Given the description of an element on the screen output the (x, y) to click on. 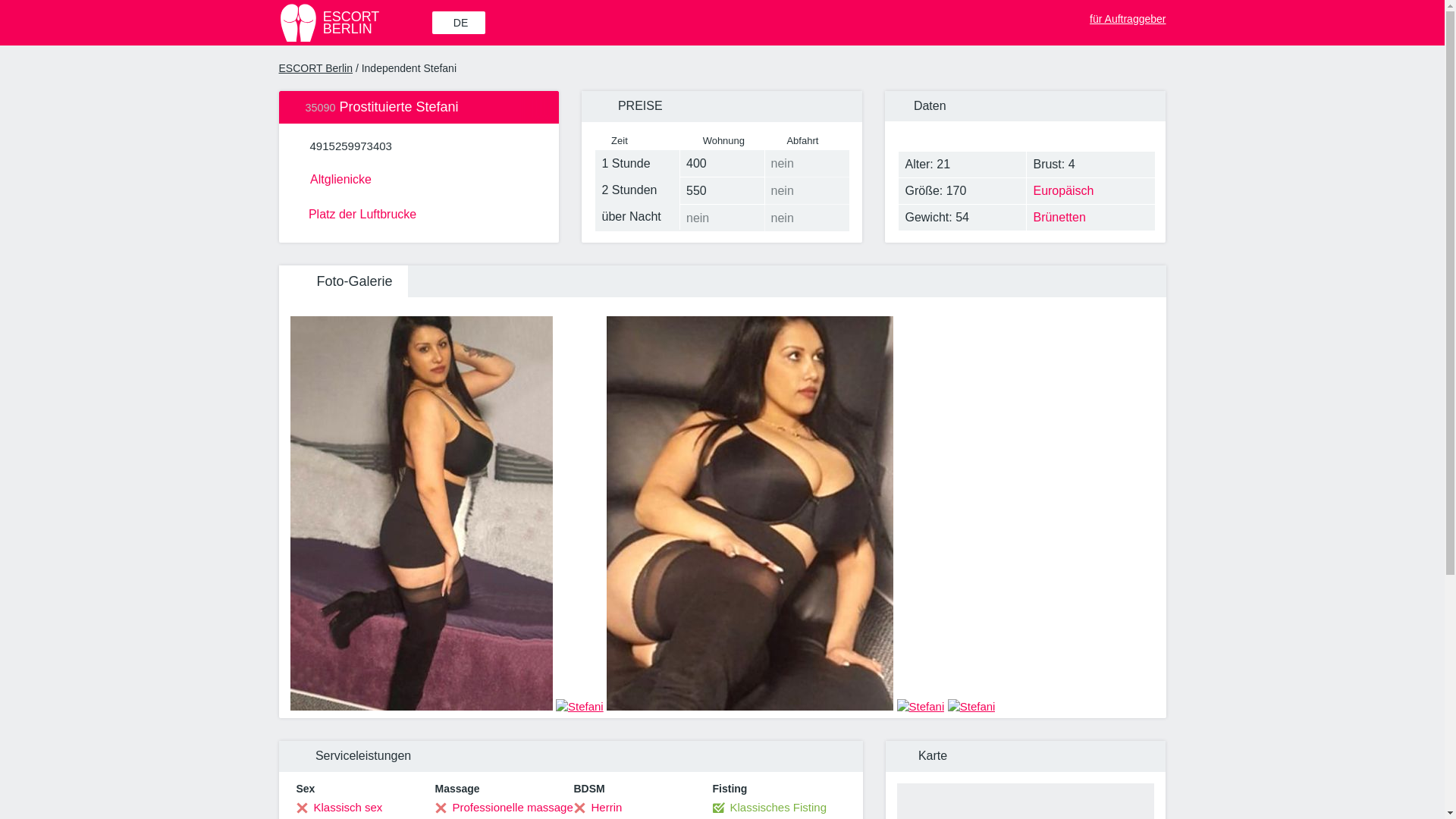
Foto-Galerie (343, 281)
Altglienicke (418, 177)
4915259973403 (350, 145)
Platz der Luftbrucke (418, 212)
ESCORT Berlin (354, 22)
Klassisch sex (316, 68)
Professionelle massage (338, 807)
